Given the description of an element on the screen output the (x, y) to click on. 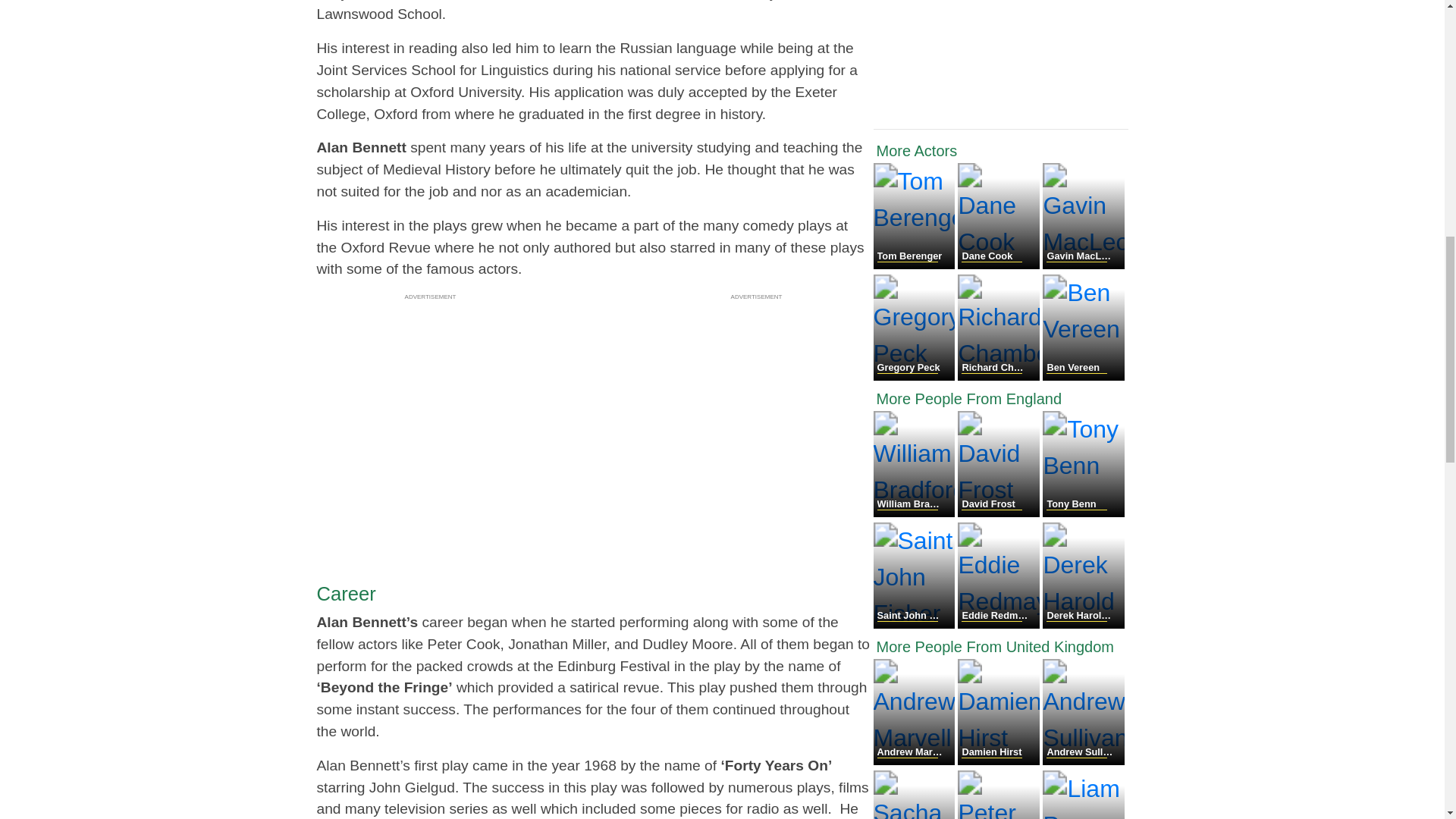
Tom Berenger (915, 264)
More Actors (1000, 150)
William Bradford (915, 512)
David Frost (1000, 512)
Tony Benn (1083, 512)
Derek Harold Richard Barton (1083, 624)
Andrew Sullivan (1083, 760)
Andrew Marvell (915, 760)
Gregory Peck (915, 376)
Richard Chamberlain (1000, 376)
